Given the description of an element on the screen output the (x, y) to click on. 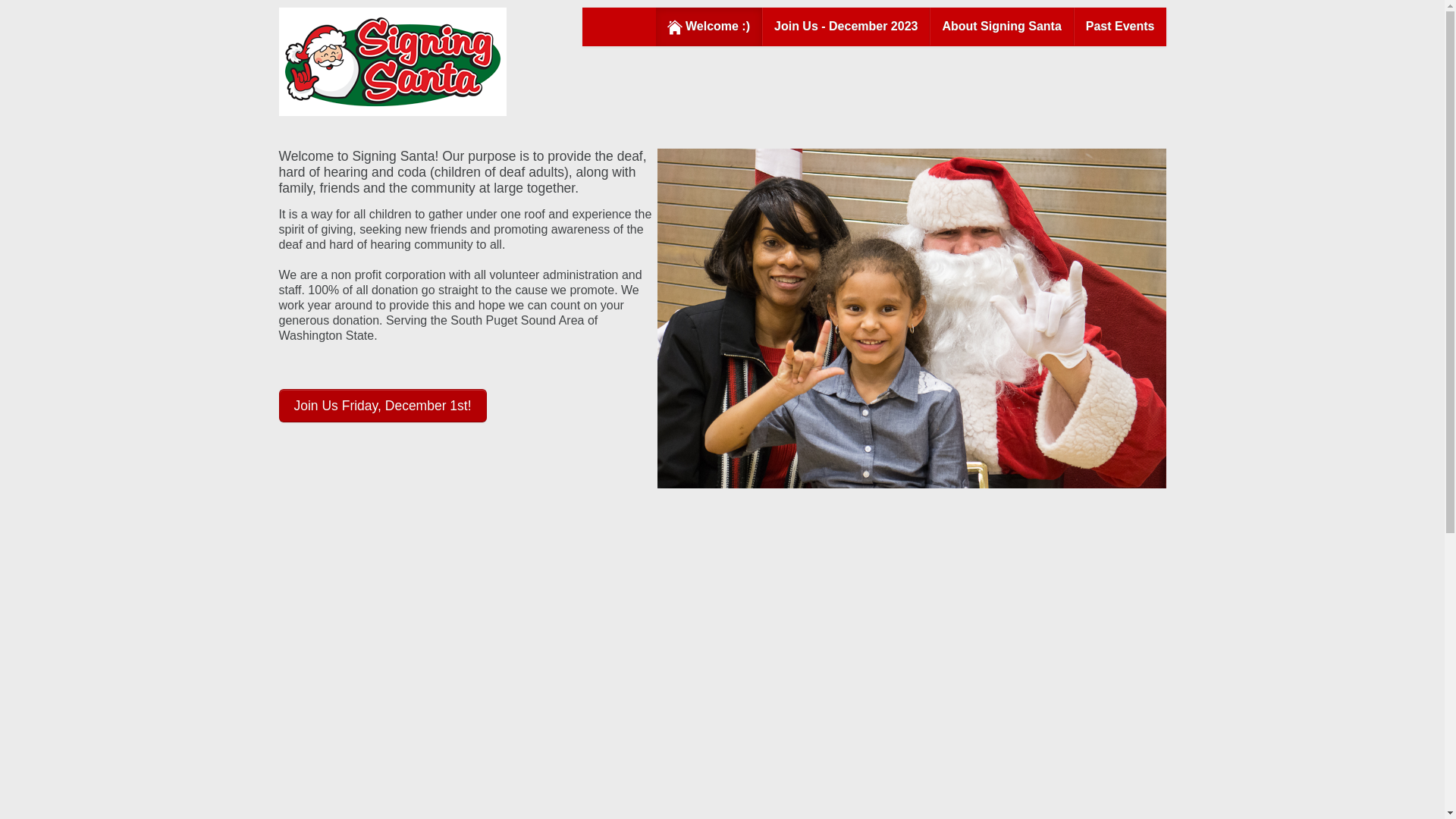
Join Us Friday, December 1st! (382, 405)
Join Us - December 2023 (845, 26)
Past Events (1120, 26)
About Signing Santa (1001, 26)
Join Us Friday, December 1st! (382, 404)
